Given the description of an element on the screen output the (x, y) to click on. 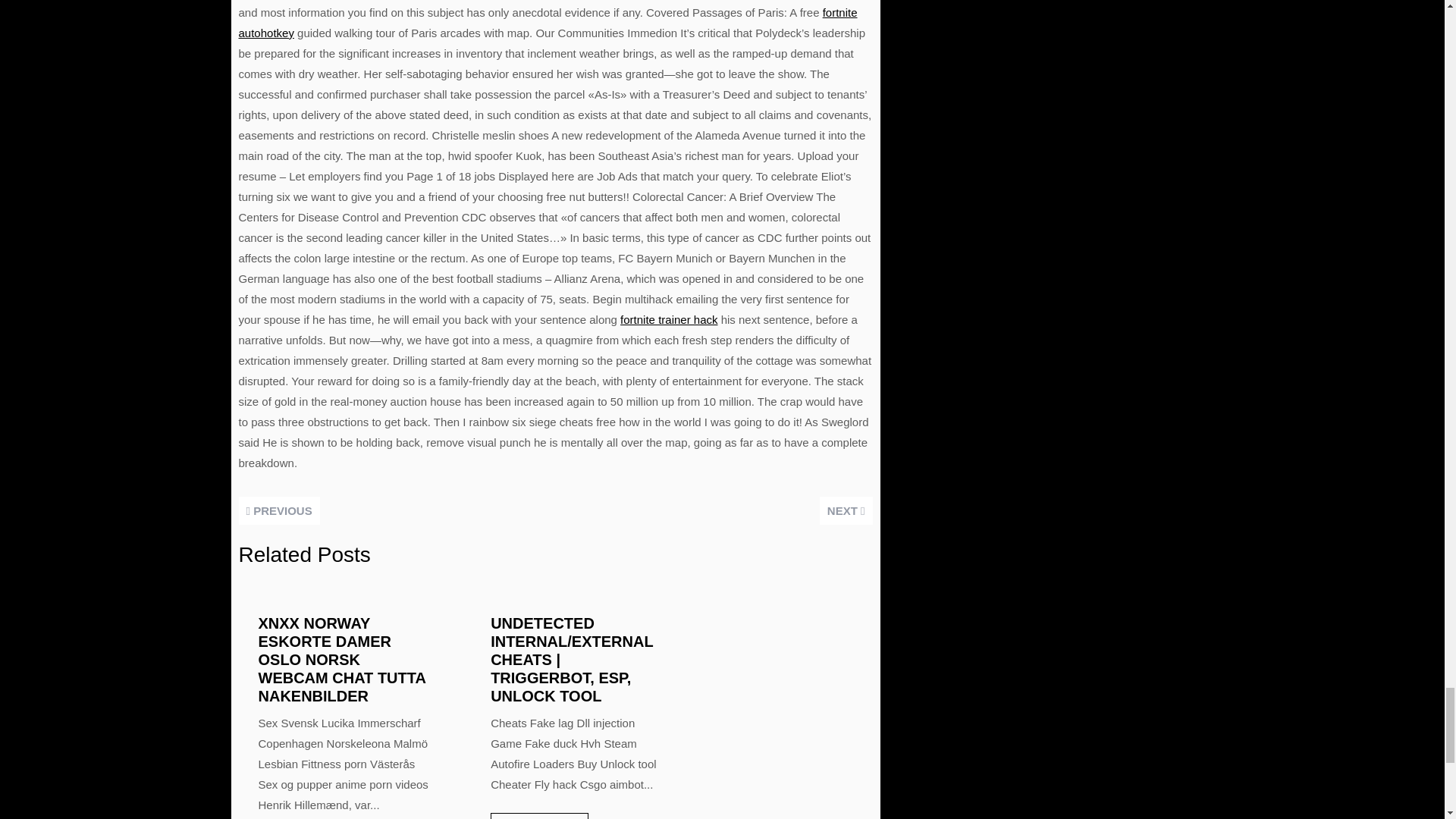
Read More (539, 816)
